Given the description of an element on the screen output the (x, y) to click on. 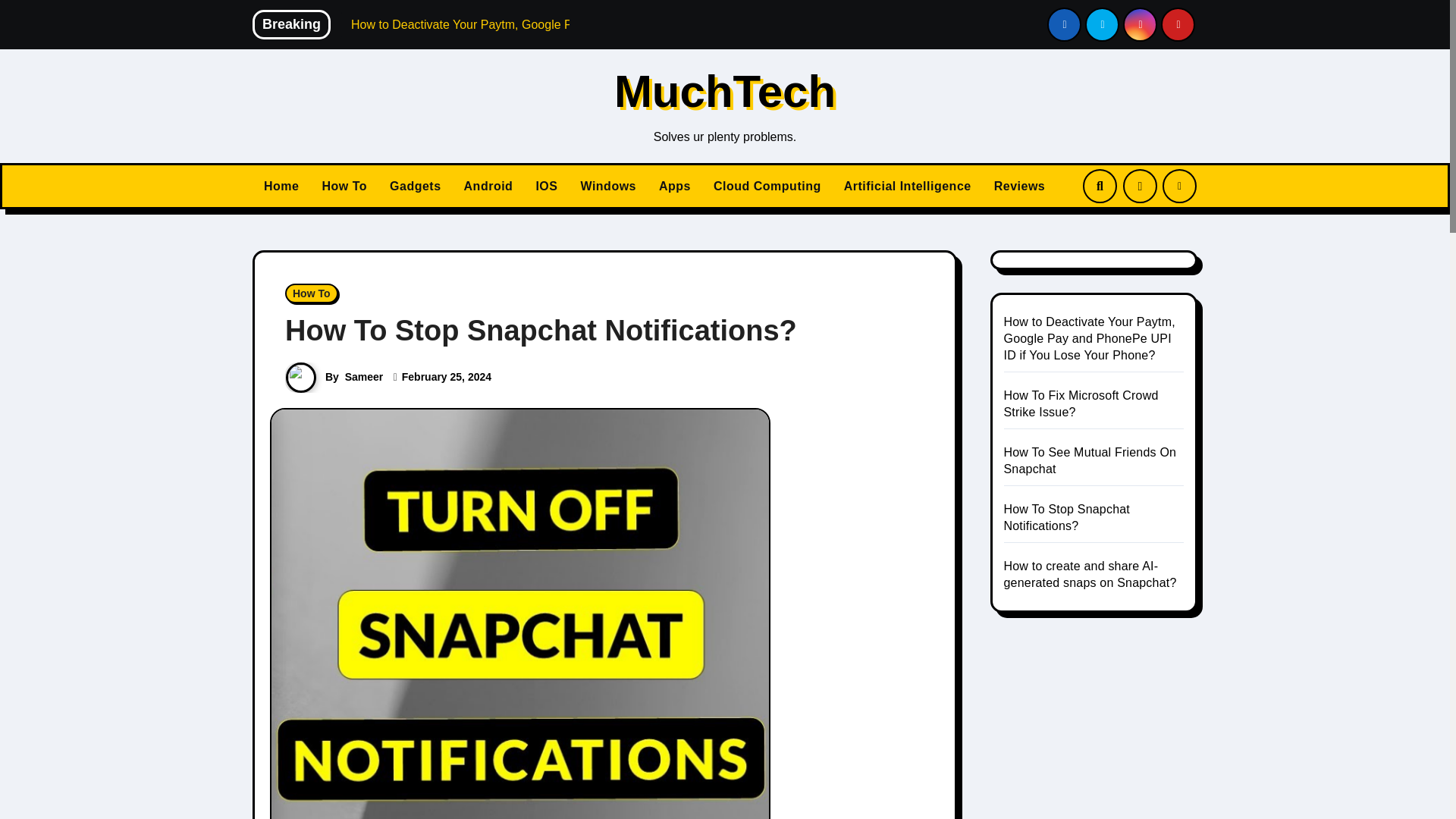
Android (488, 186)
Sameer (364, 377)
How To Stop Snapchat Notifications? (540, 330)
MuchTech (724, 91)
Cloud Computing (766, 186)
Home (280, 186)
How To (344, 186)
Reviews (1019, 186)
Gadgets (415, 186)
IOS (546, 186)
How To (344, 186)
How To (311, 293)
Home (280, 186)
Artificial Intelligence (907, 186)
Windows (608, 186)
